Given the description of an element on the screen output the (x, y) to click on. 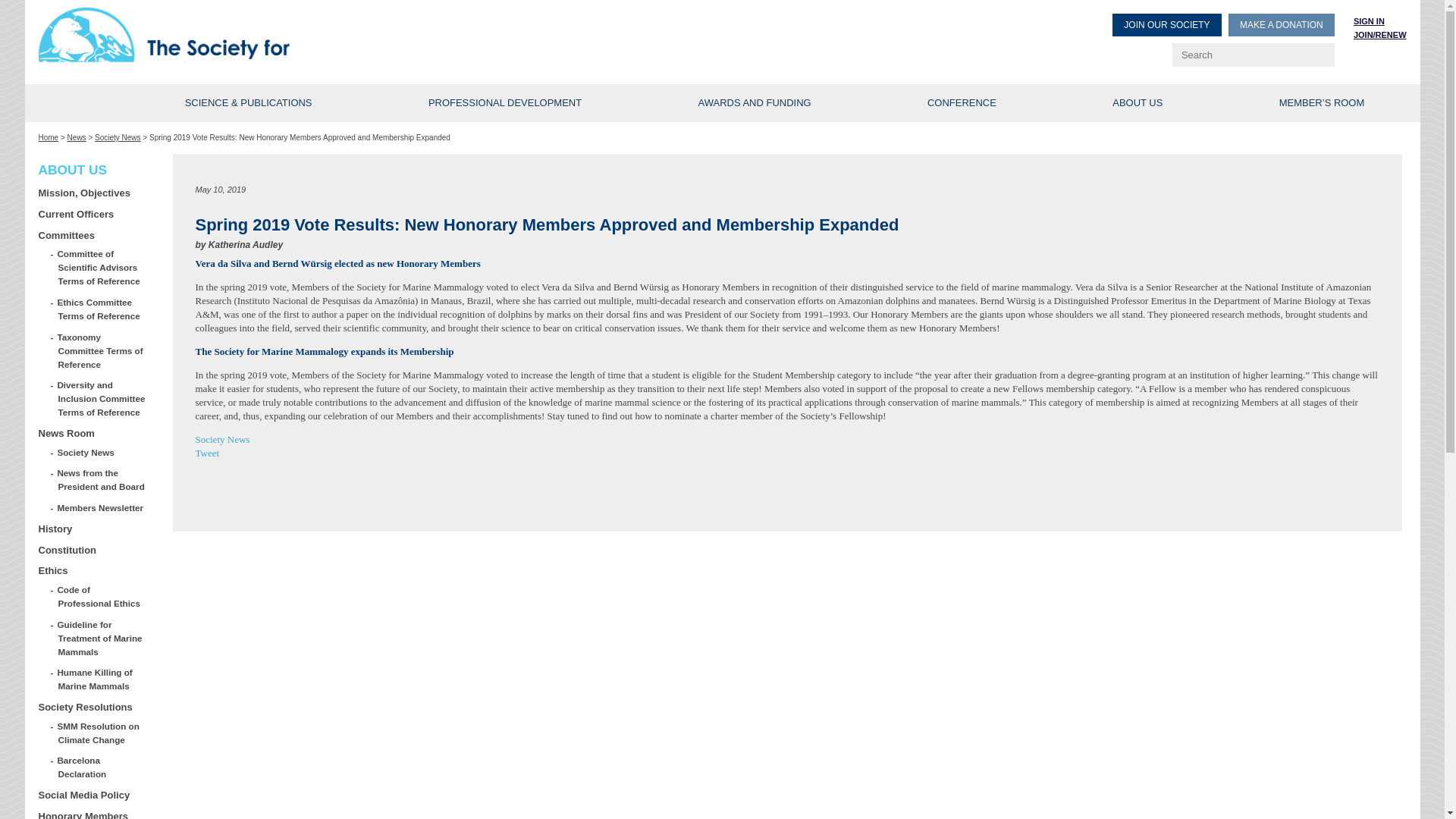
View all posts by Katherina Audley (245, 244)
Society for Marine Mammalogy (381, 35)
MAKE A DONATION (1281, 24)
CONFERENCE (962, 103)
JOIN OUR SOCIETY (1166, 24)
SIGN IN (1369, 20)
PROFESSIONAL DEVELOPMENT (505, 103)
8:28 pm (220, 189)
AWARDS AND FUNDING (754, 103)
